Given the description of an element on the screen output the (x, y) to click on. 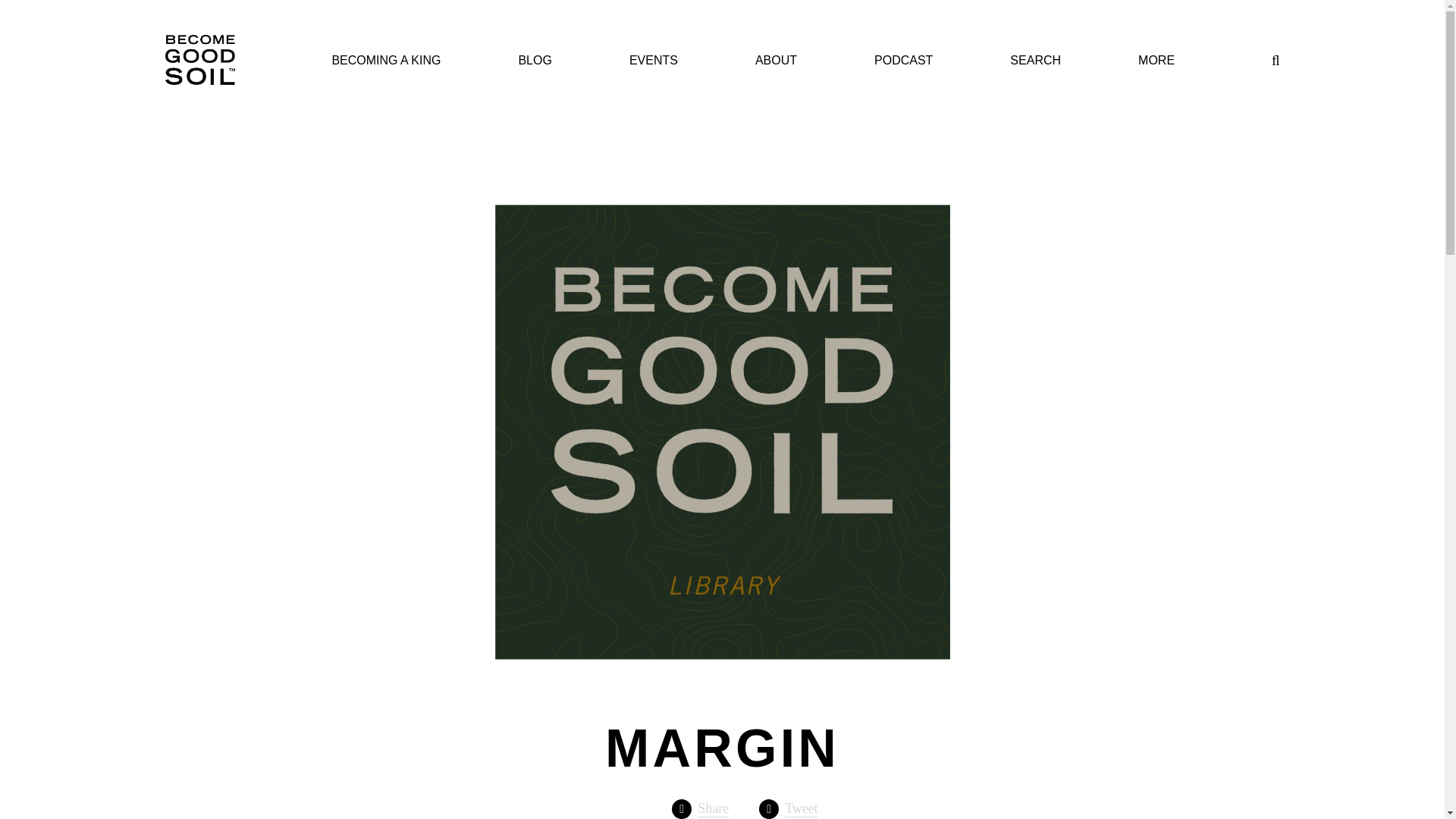
BLOG (534, 60)
BECOMING A KING (386, 60)
ABOUT (775, 60)
PODCAST (904, 60)
Share (700, 809)
Share on Facebook (700, 809)
EVENTS (653, 60)
Share on Twitter (788, 809)
SEARCH (1035, 60)
MORE (1156, 60)
Tweet (788, 809)
Become Good Soil (199, 60)
